Given the description of an element on the screen output the (x, y) to click on. 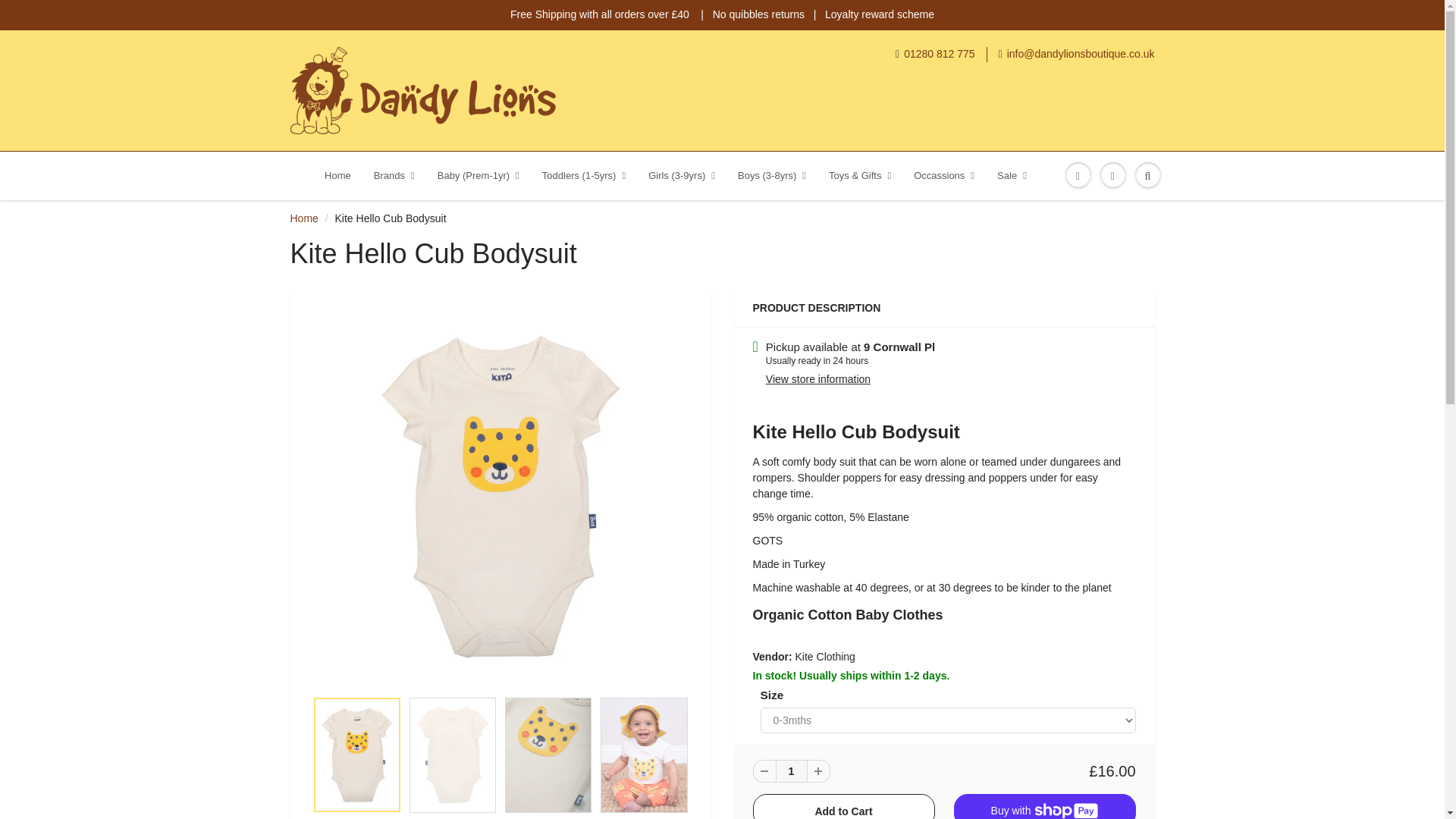
Add to Cart (843, 806)
Brands (394, 175)
1 (790, 771)
01280 812 775 (935, 54)
Kite Clothing (825, 656)
Home (337, 175)
Home (303, 218)
